Given the description of an element on the screen output the (x, y) to click on. 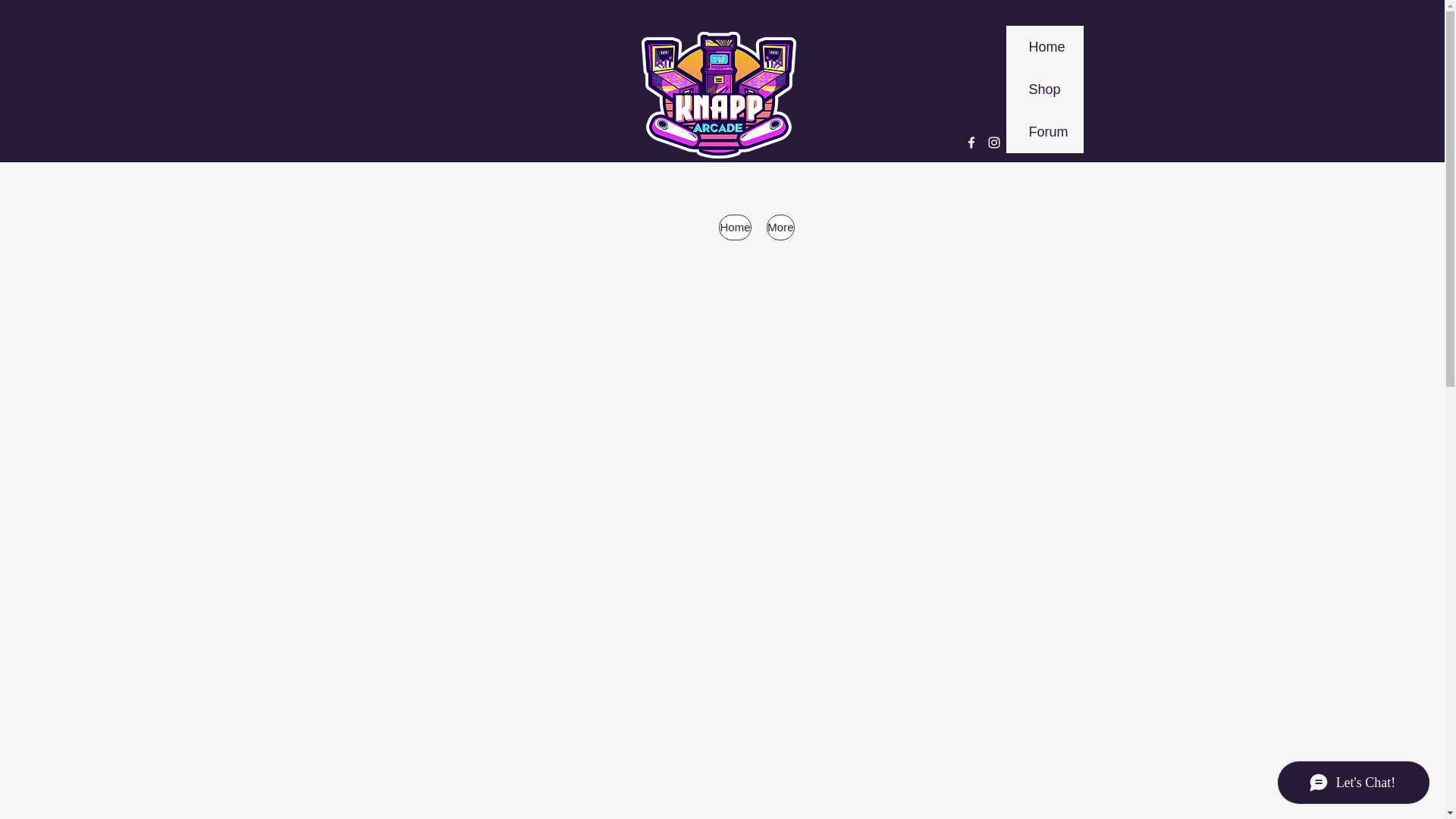
Home (1044, 46)
Shop (1044, 88)
Home (735, 227)
Forum (1044, 131)
